Given the description of an element on the screen output the (x, y) to click on. 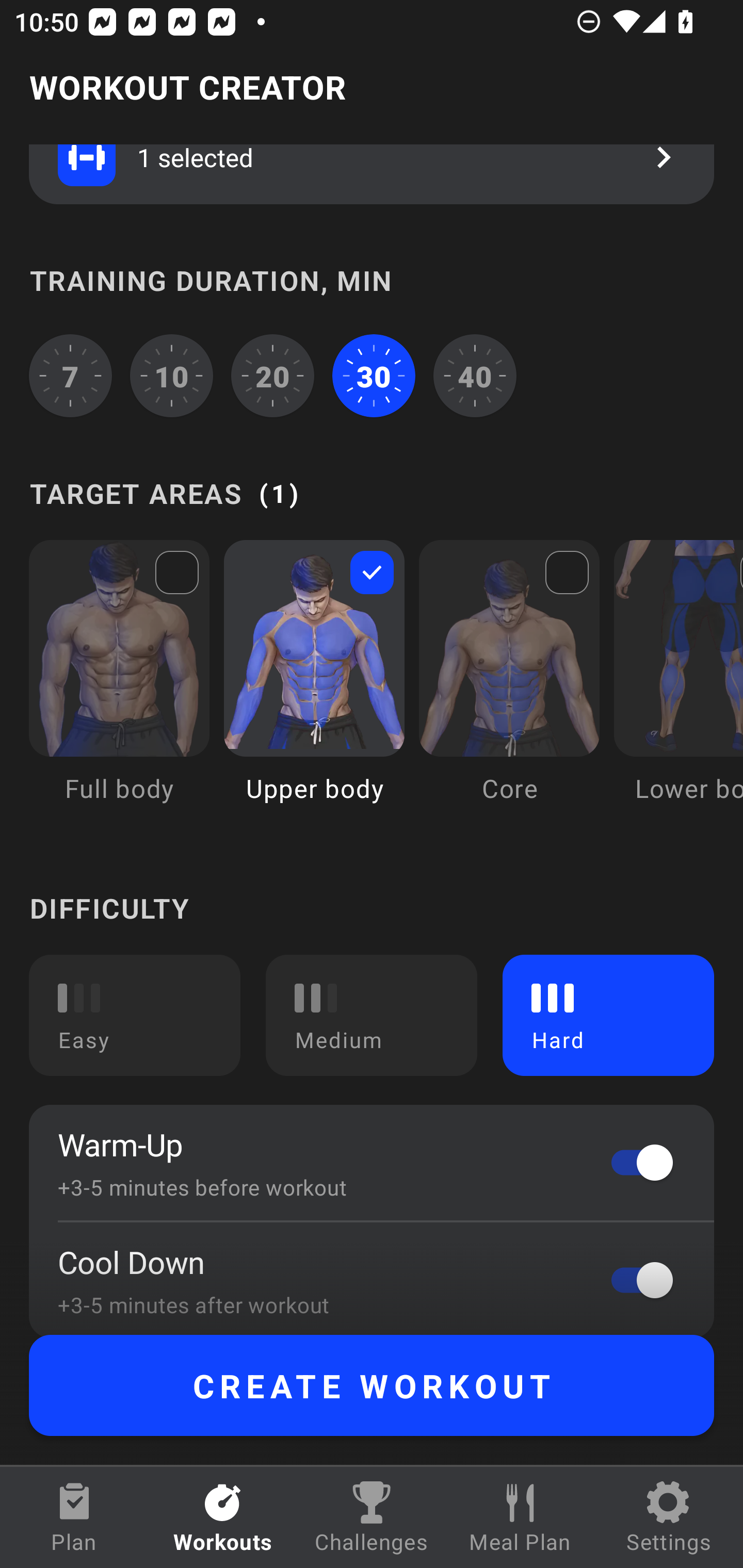
1 selected (371, 173)
7 (70, 375)
10 (171, 375)
20 (272, 375)
30 (373, 375)
40 (474, 375)
Full body (118, 685)
Core (509, 685)
Lower body (678, 685)
Easy (134, 1014)
Medium (371, 1014)
CREATE WORKOUT (371, 1385)
 Plan  (74, 1517)
 Challenges  (371, 1517)
 Meal Plan  (519, 1517)
 Settings  (668, 1517)
